Given the description of an element on the screen output the (x, y) to click on. 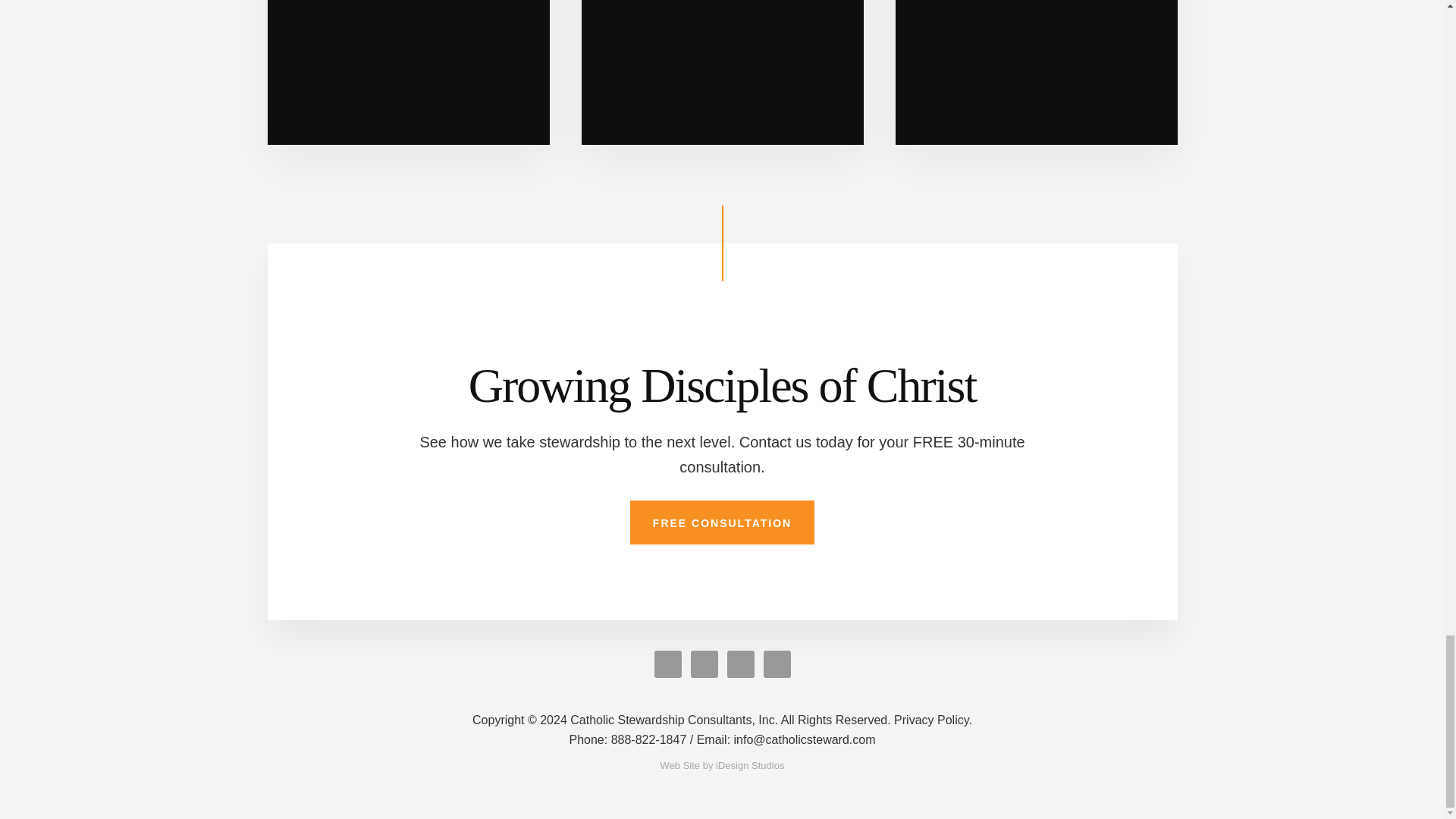
FAQ (1035, 72)
Catholic Stewardship Consultants, Inc. (681, 719)
About Us (407, 72)
Email (786, 739)
Stewardship Services (721, 72)
Privacy Policy (932, 719)
